Given the description of an element on the screen output the (x, y) to click on. 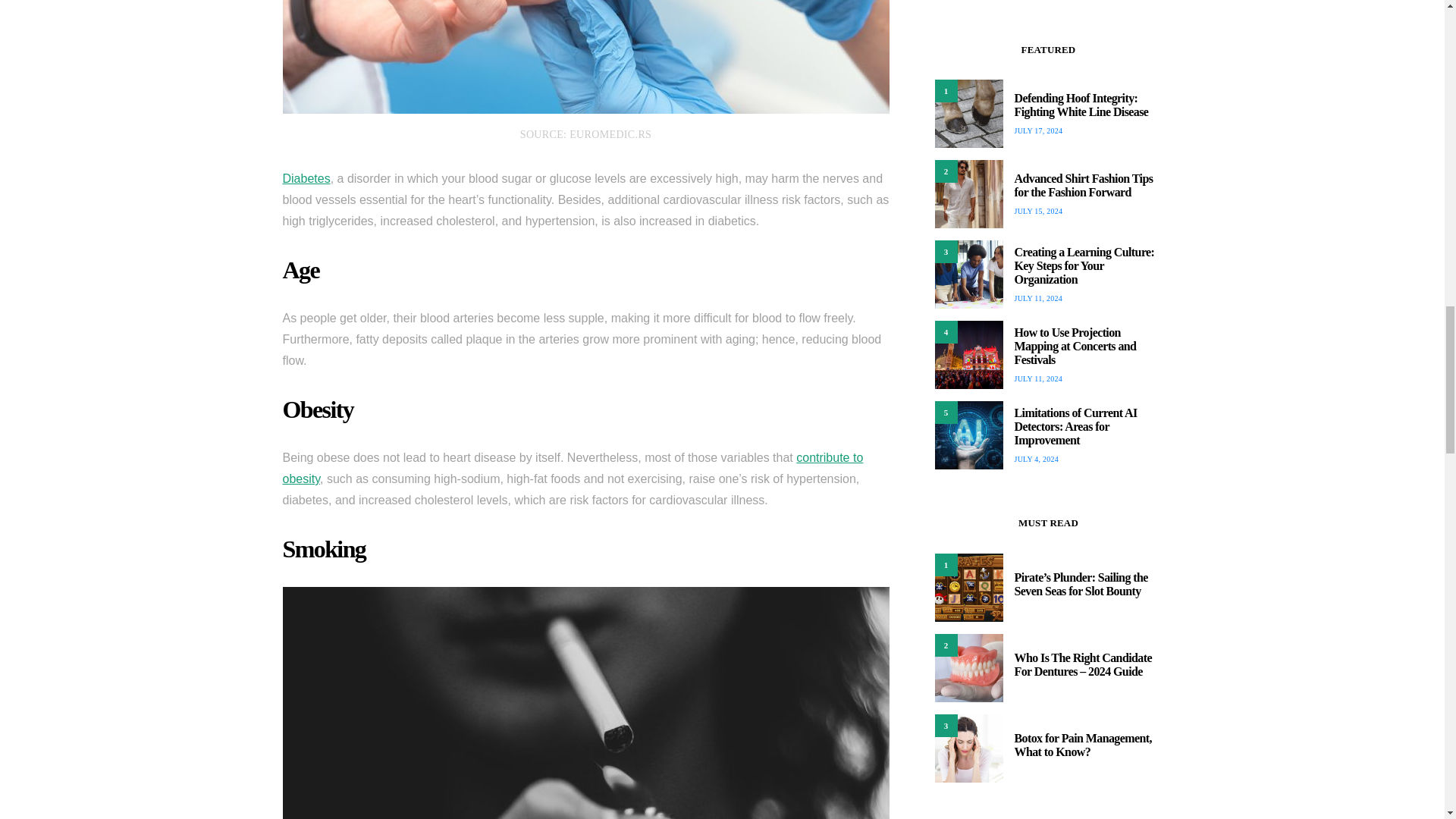
contribute to obesity (572, 468)
Diabetes (306, 178)
